Given the description of an element on the screen output the (x, y) to click on. 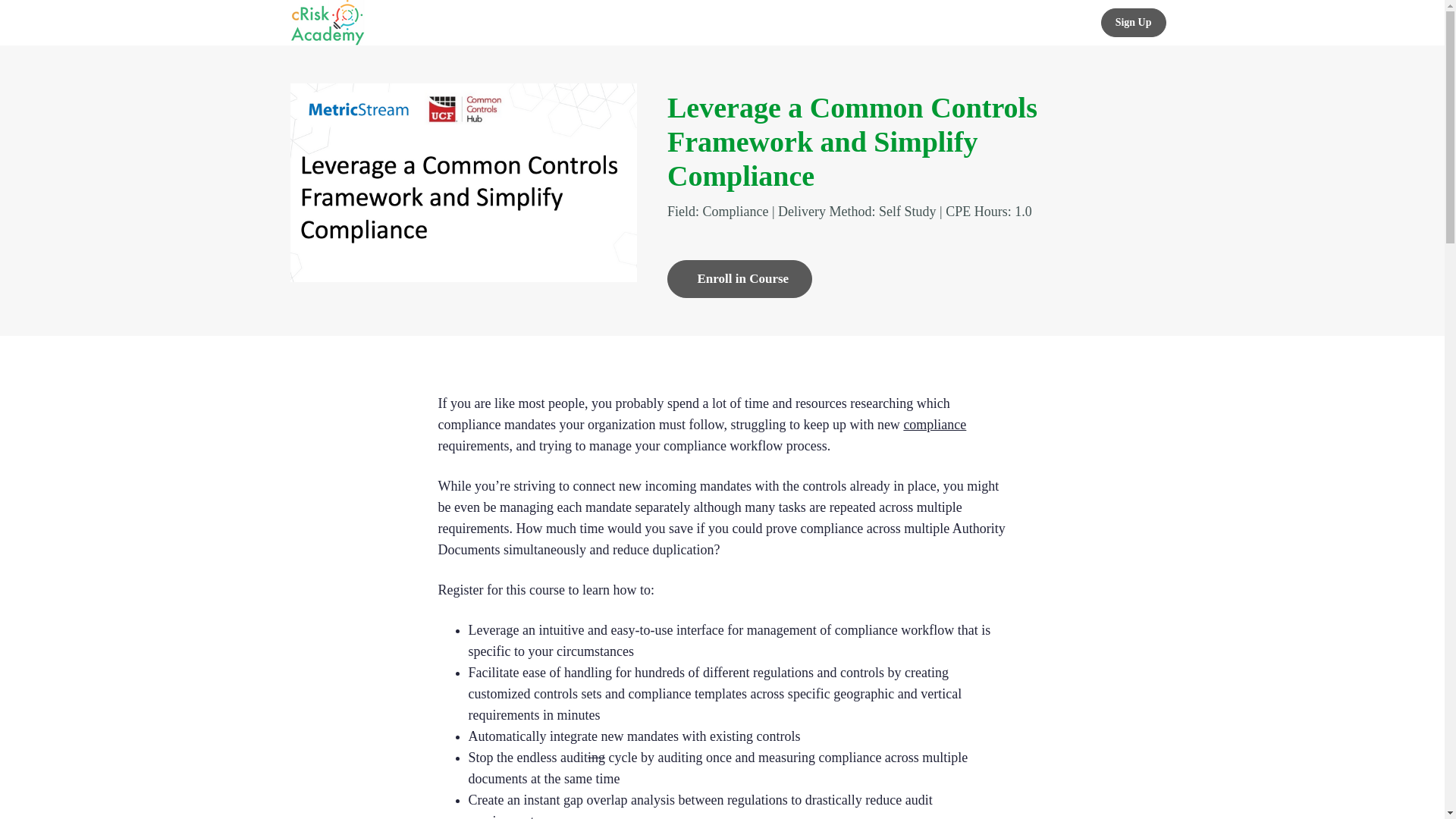
  Enroll in Course (739, 279)
  Enroll in Course (739, 279)
Agile Auditing (935, 22)
More (1012, 22)
CPE Certificates (840, 22)
Login (1068, 22)
Certifications (682, 22)
Sign Up (1133, 22)
All Courses (601, 22)
Invoicing (758, 22)
